Given the description of an element on the screen output the (x, y) to click on. 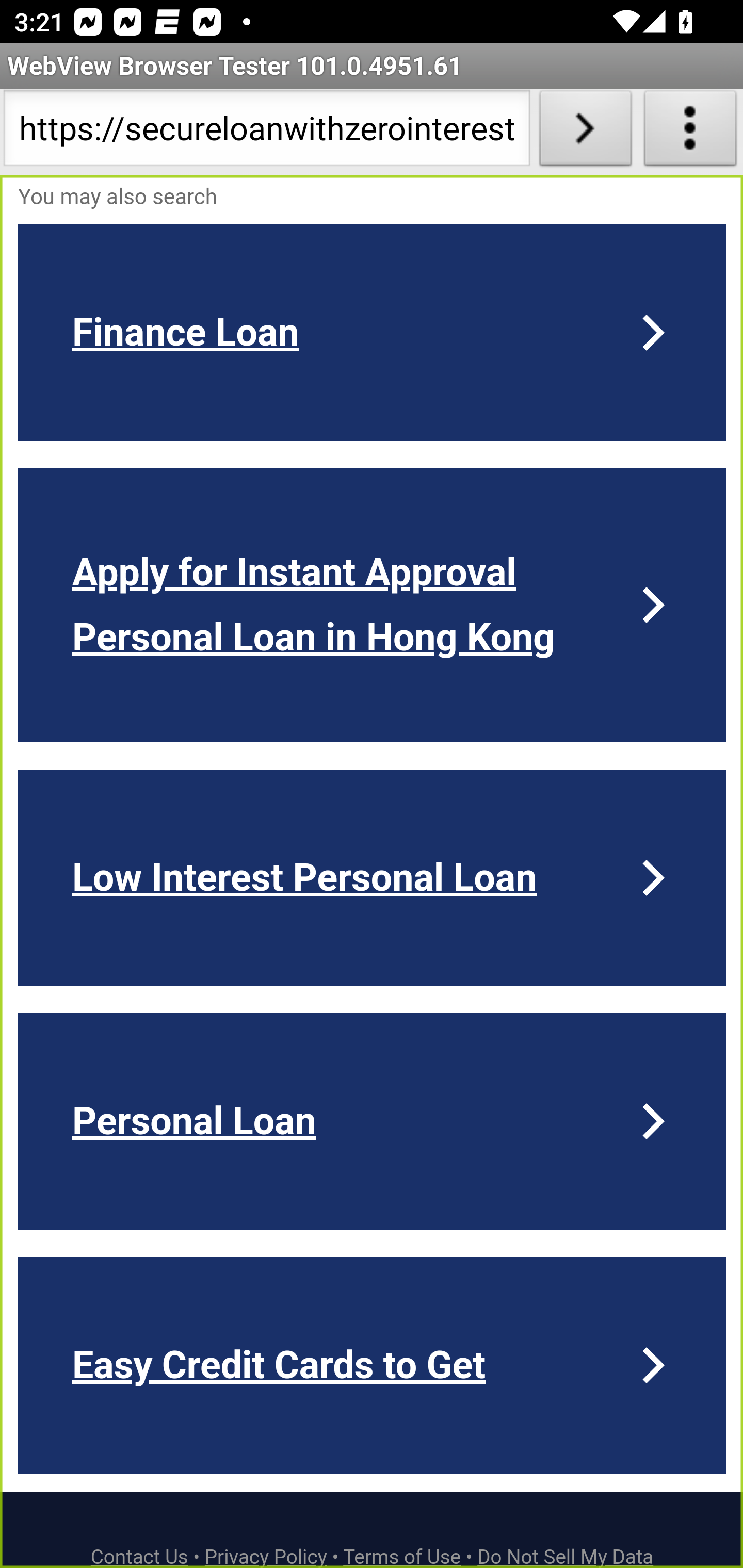
Load URL (585, 132)
About WebView (690, 132)
Finance Loan (372, 332)
Low Interest Personal Loan (372, 876)
Personal Loan (372, 1120)
Easy Credit Cards to Get (372, 1364)
Contact Us (139, 1556)
Privacy Policy (265, 1556)
Terms of Use (402, 1556)
Do Not Sell My Data (566, 1556)
